Given the description of an element on the screen output the (x, y) to click on. 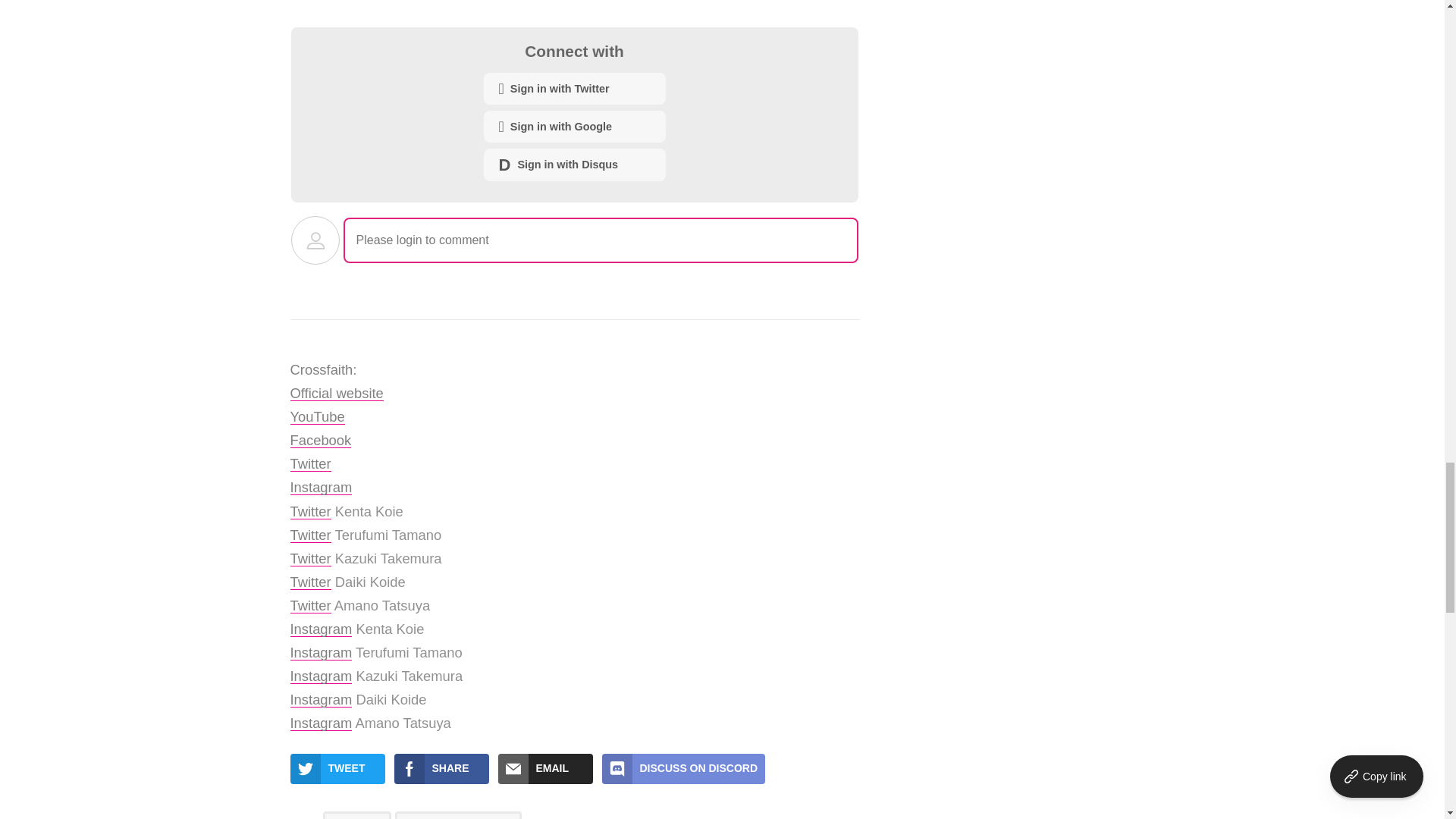
Discuss on discord (683, 768)
Share on Facebook (441, 768)
Tweet it (336, 768)
Share via e-mail (544, 768)
